Given the description of an element on the screen output the (x, y) to click on. 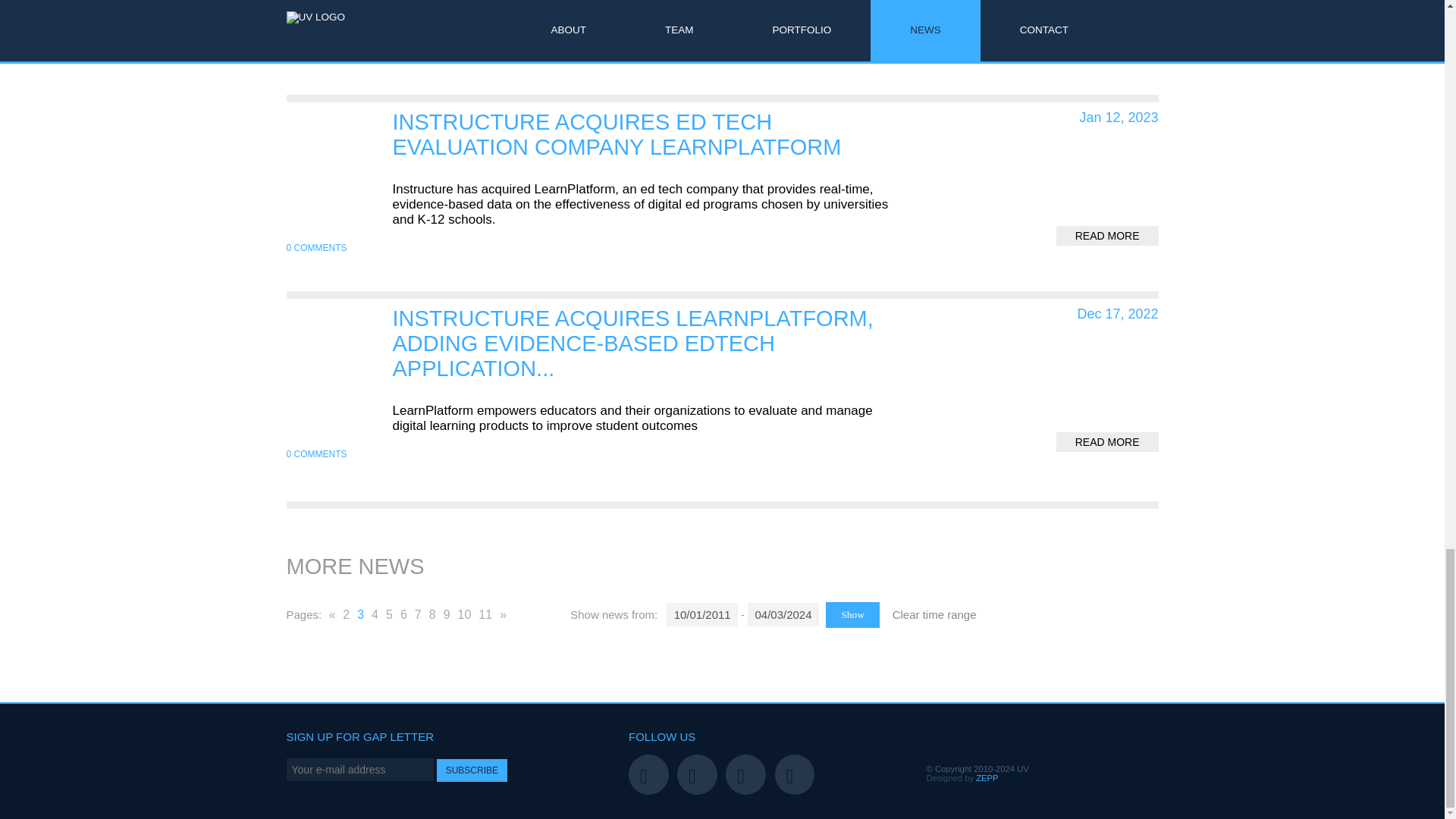
UV on LinkedIn (794, 774)
UV on Facebook (745, 774)
UV Tweets (697, 774)
11 (485, 615)
READ MORE (1107, 442)
READ MORE (1107, 235)
Click to pick date (783, 614)
Show (852, 614)
Subscribe (471, 770)
